Given the description of an element on the screen output the (x, y) to click on. 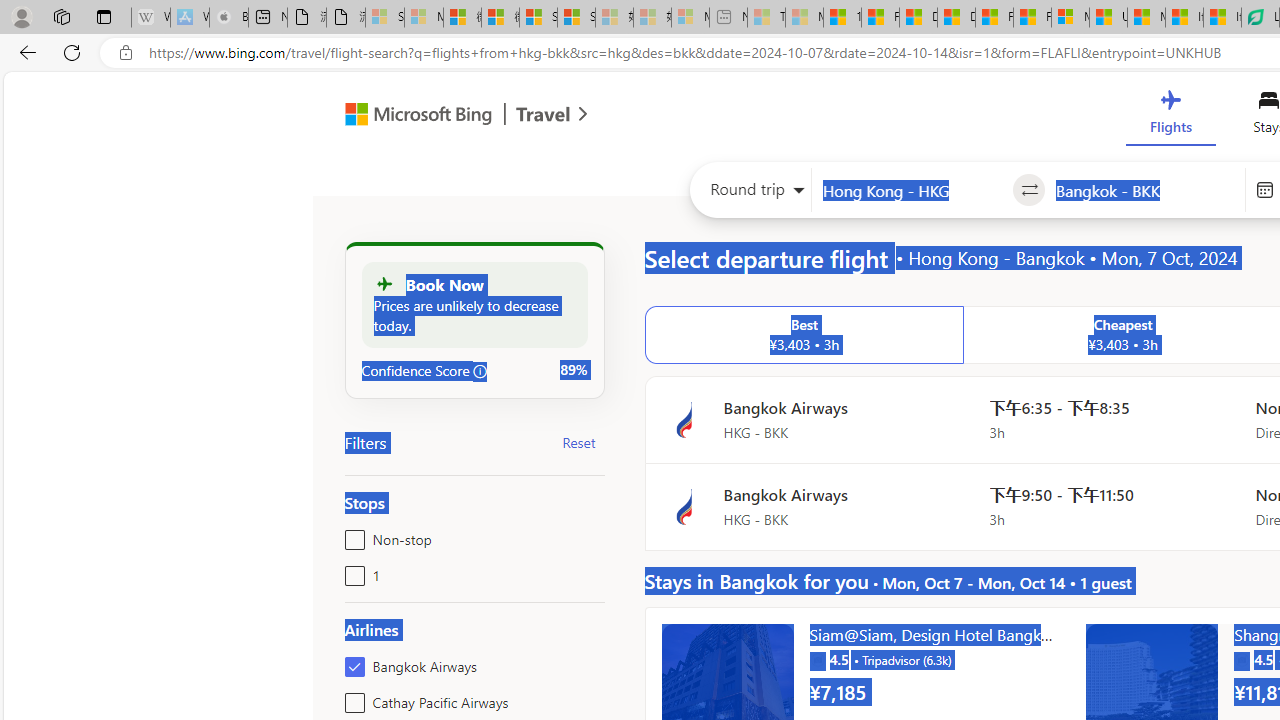
Non-stop (351, 535)
Leaving from? (912, 190)
Marine life - MSN - Sleeping (804, 17)
Sign in to your Microsoft account - Sleeping (385, 17)
Tripadvisor (1241, 660)
Microsoft Bing (410, 116)
Select trip type (750, 193)
Going to? (1145, 190)
Cathay Pacific Airways (351, 698)
